Given the description of an element on the screen output the (x, y) to click on. 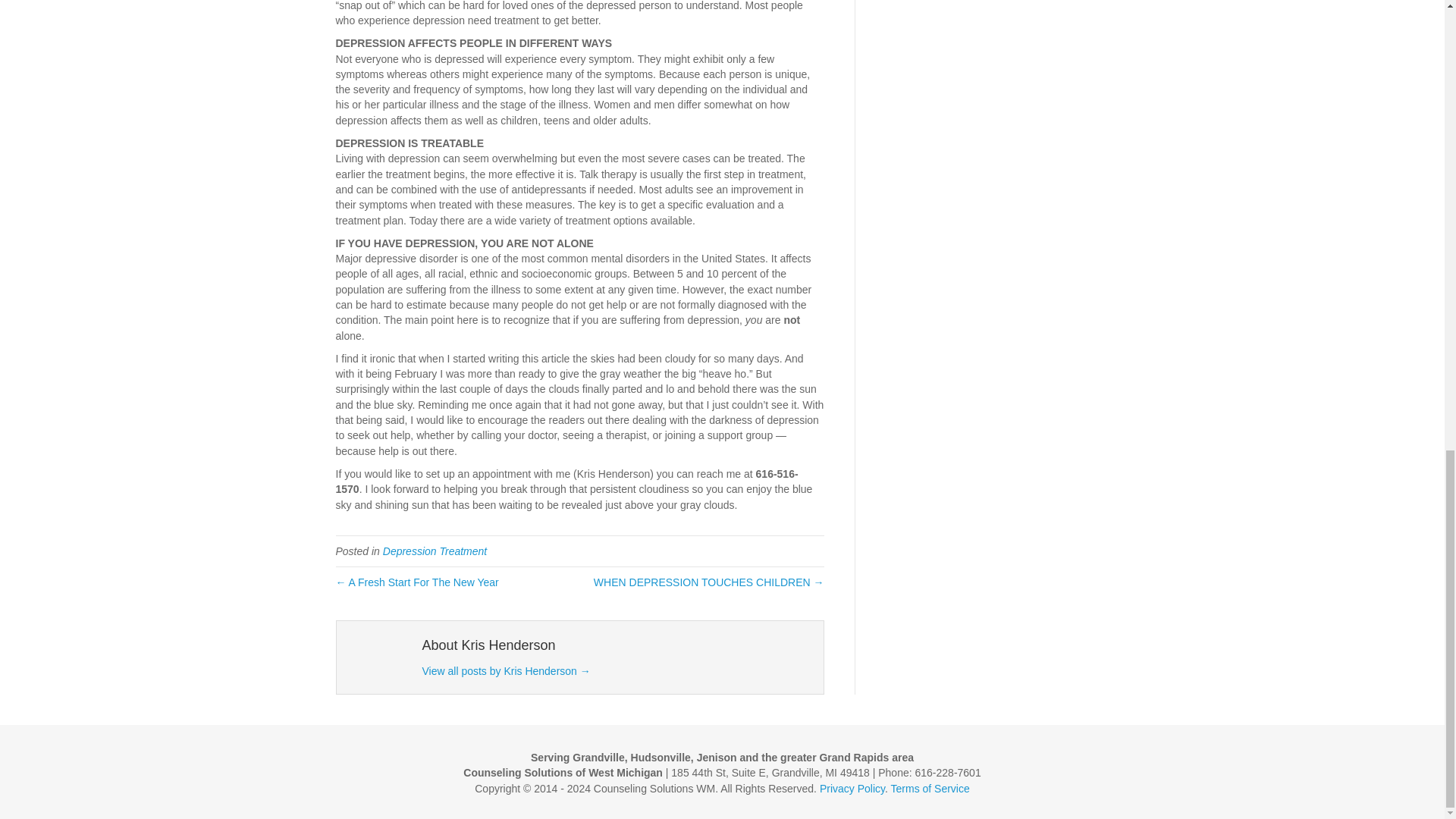
Depression Treatment (434, 551)
